Given the description of an element on the screen output the (x, y) to click on. 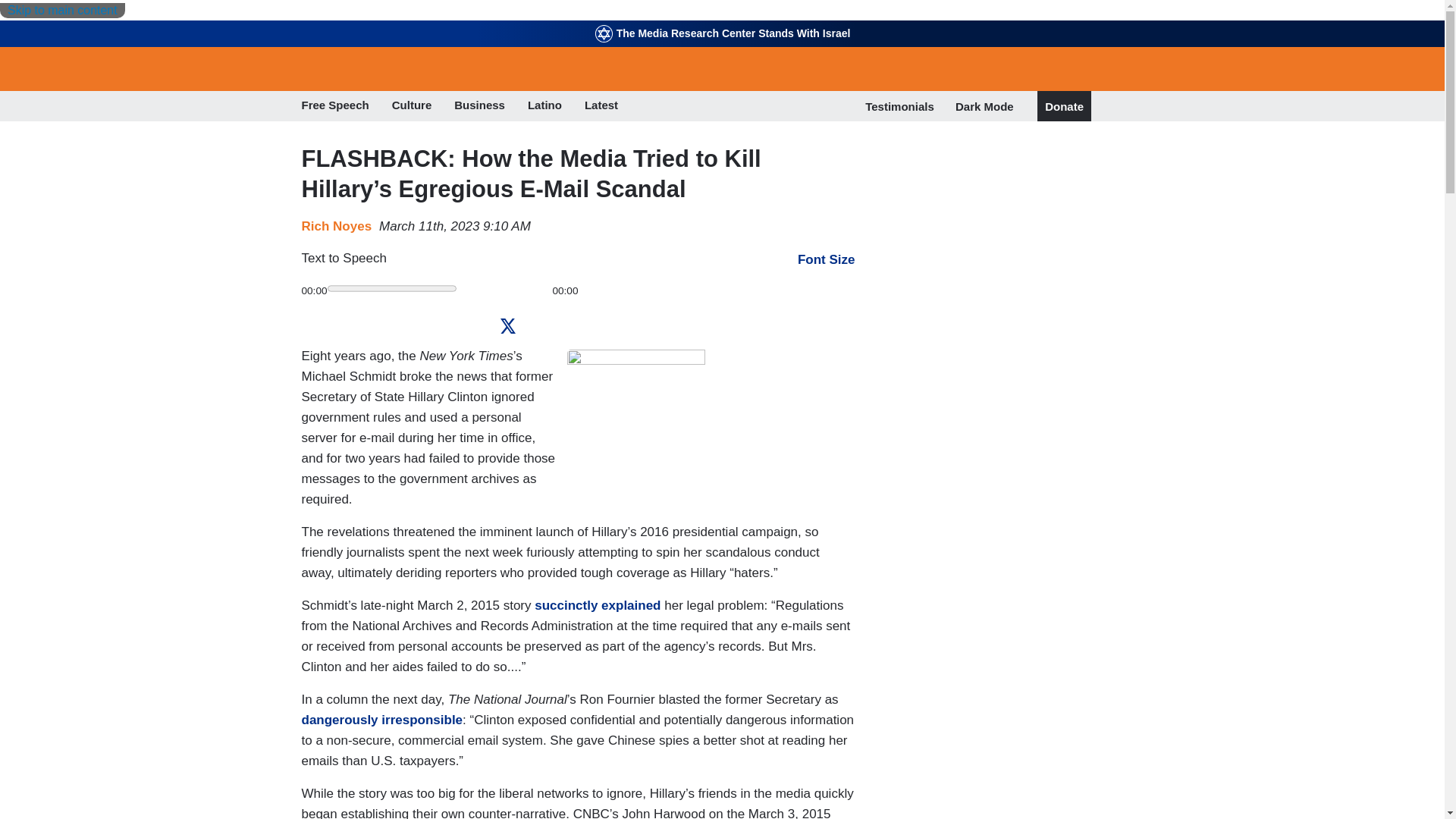
Latest (601, 106)
Skip to main content (62, 10)
Donate (1064, 106)
Culture (411, 106)
Testimonials (899, 106)
Dark Mode (984, 105)
Free Speech (335, 106)
Latino (544, 106)
Business (479, 106)
